Given the description of an element on the screen output the (x, y) to click on. 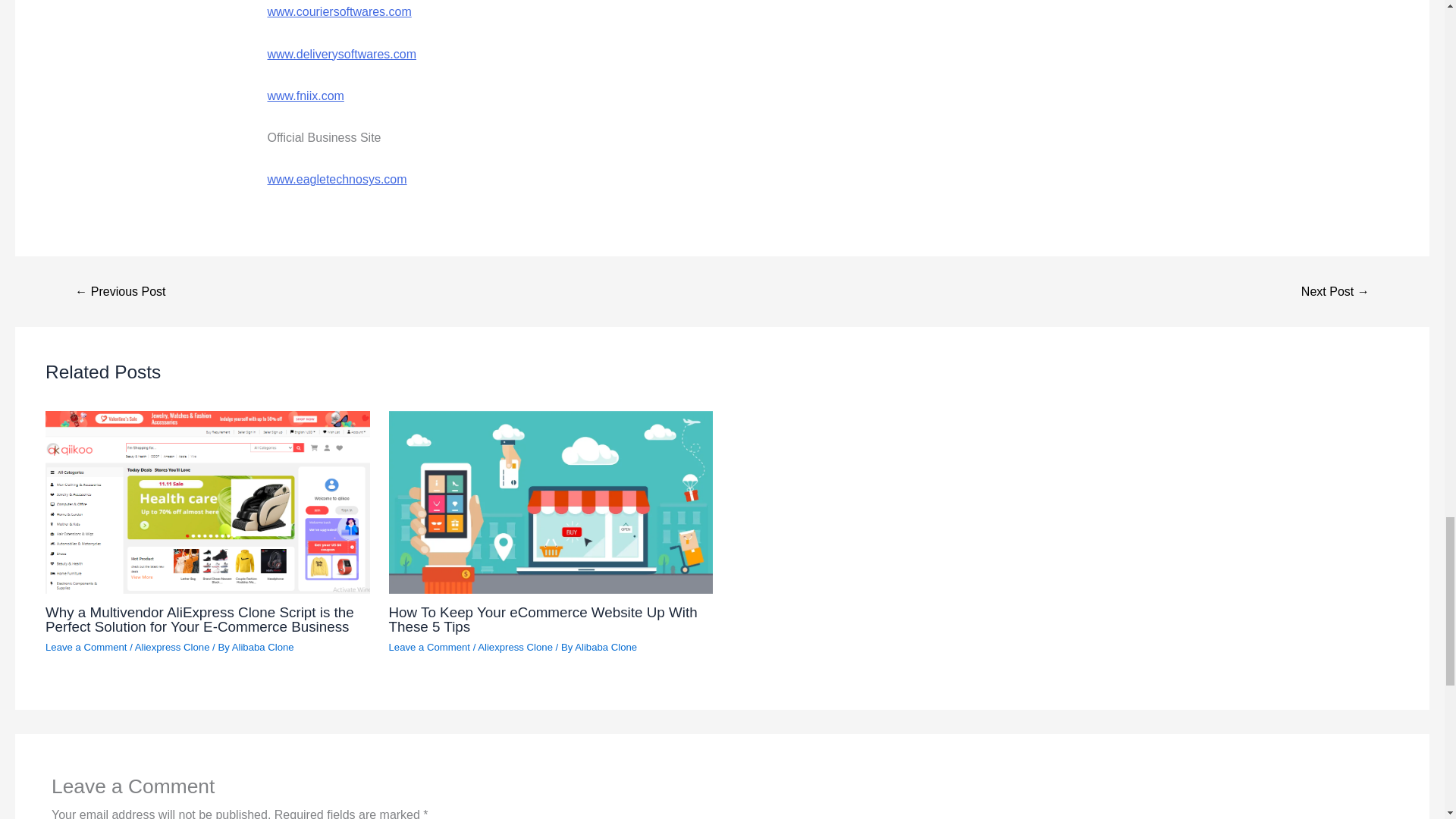
Aliexpress Clone (172, 646)
www.fniix.com (304, 95)
View all posts by Alibaba Clone (262, 646)
www.couriersoftwares.com (338, 11)
www.deliverysoftwares.com (341, 53)
View all posts by Alibaba Clone (606, 646)
Aliexpress Clone (515, 646)
www.eagletechnosys.com (336, 178)
The Ultimate Guide To Successful B2b Ecommerce Platforms (1334, 291)
How To Keep Your eCommerce Website Up With These 5 Tips (542, 619)
Leave a Comment (86, 646)
Leave a Comment (429, 646)
Alibaba Clone (262, 646)
